Given the description of an element on the screen output the (x, y) to click on. 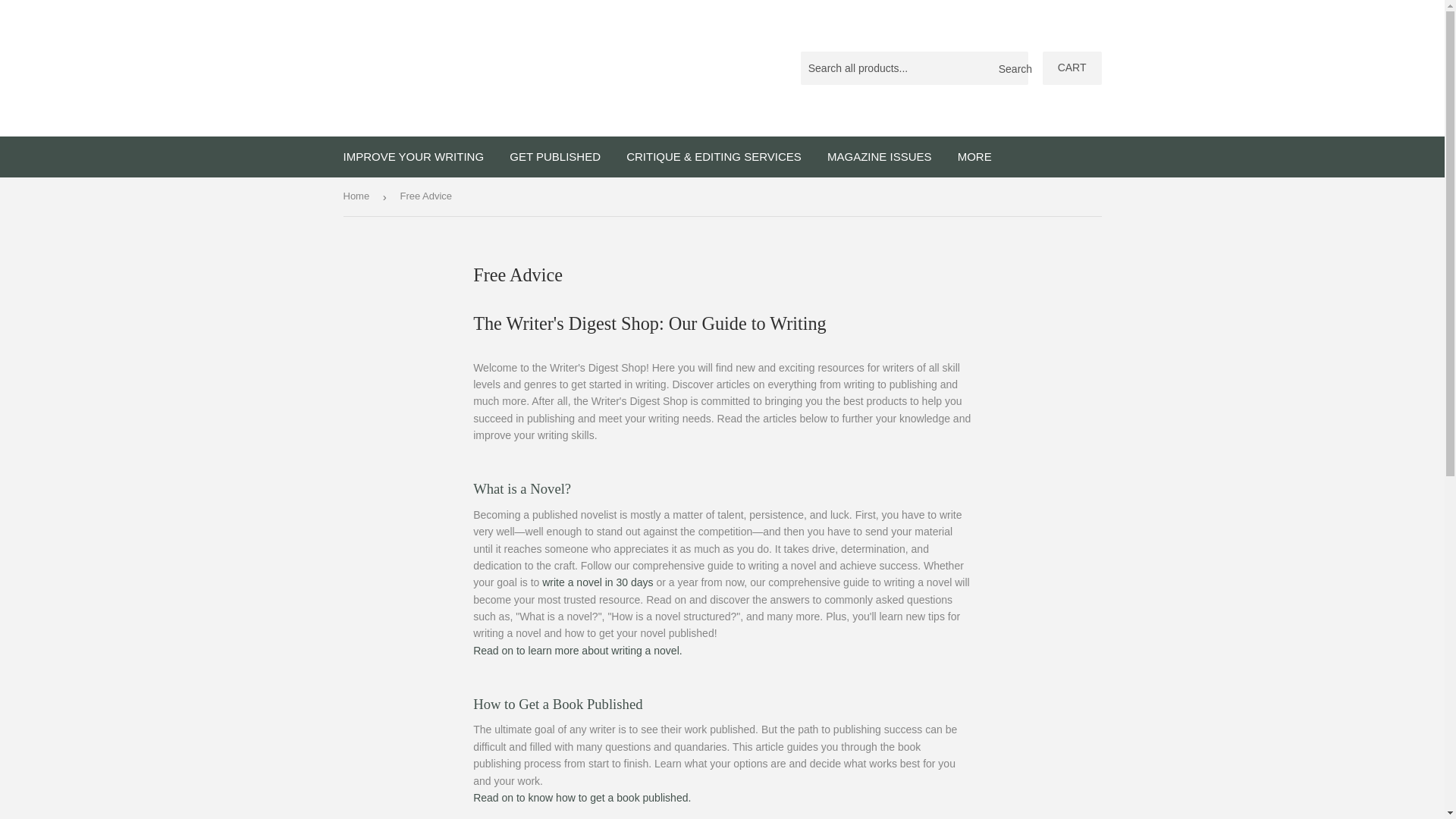
CART (1072, 68)
Here are some options for getting your book published (557, 703)
Learn more about how to write a novel (521, 488)
Writing a novel (577, 650)
Search (1010, 69)
How to get published (581, 797)
